Given the description of an element on the screen output the (x, y) to click on. 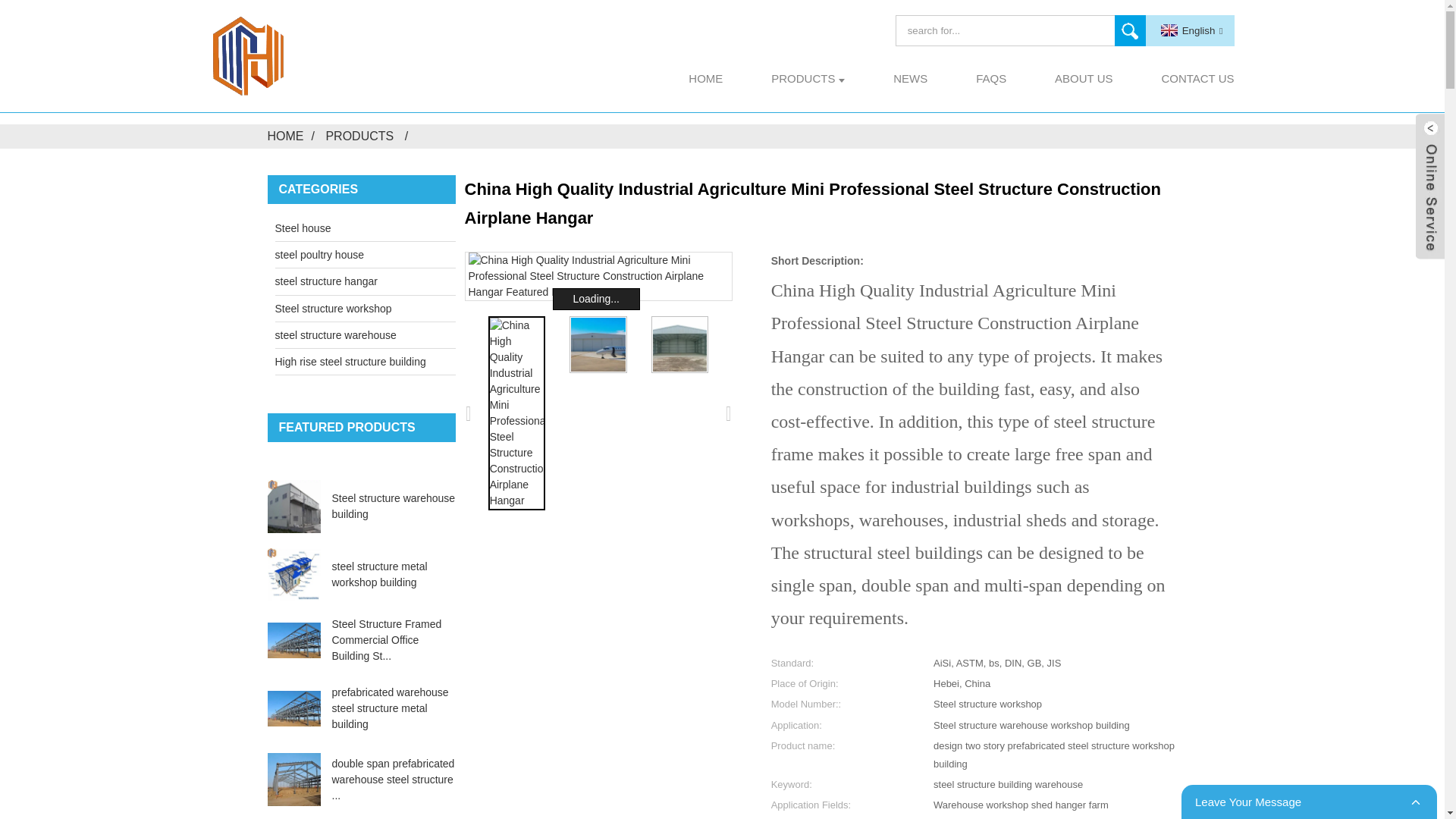
English (1190, 30)
Products (358, 135)
prefabricated warehouse steel structure metal building (389, 708)
PRODUCTS (358, 135)
steel structure hangar (350, 281)
double span prefabricated warehouse steel structure ... (392, 779)
Steel house (350, 227)
High rise steel structure building (350, 361)
Steel Structure Framed Commercial Office Building St... (386, 639)
HOME (284, 135)
